Given the description of an element on the screen output the (x, y) to click on. 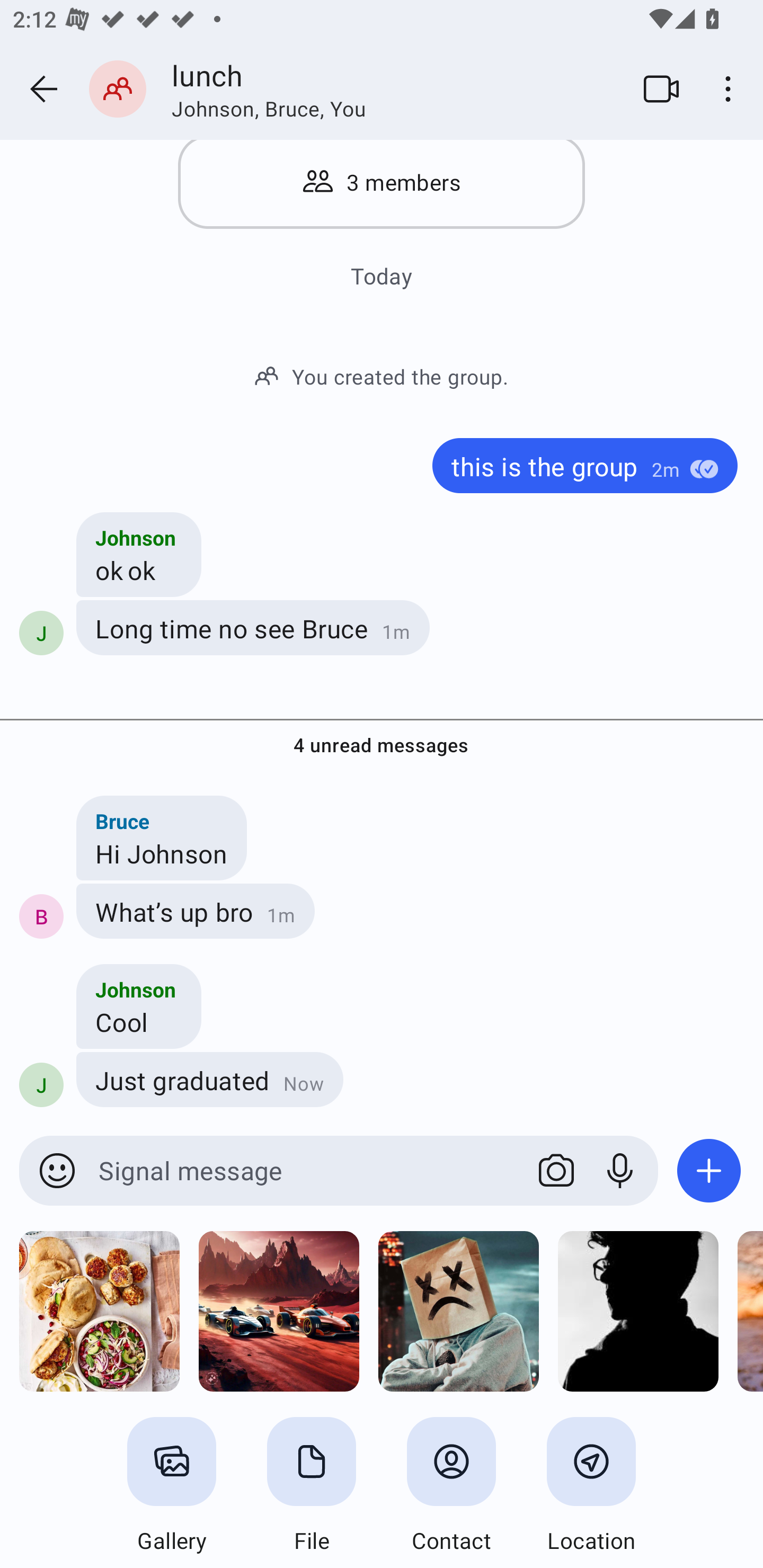
Media message (99, 1311)
